Given the description of an element on the screen output the (x, y) to click on. 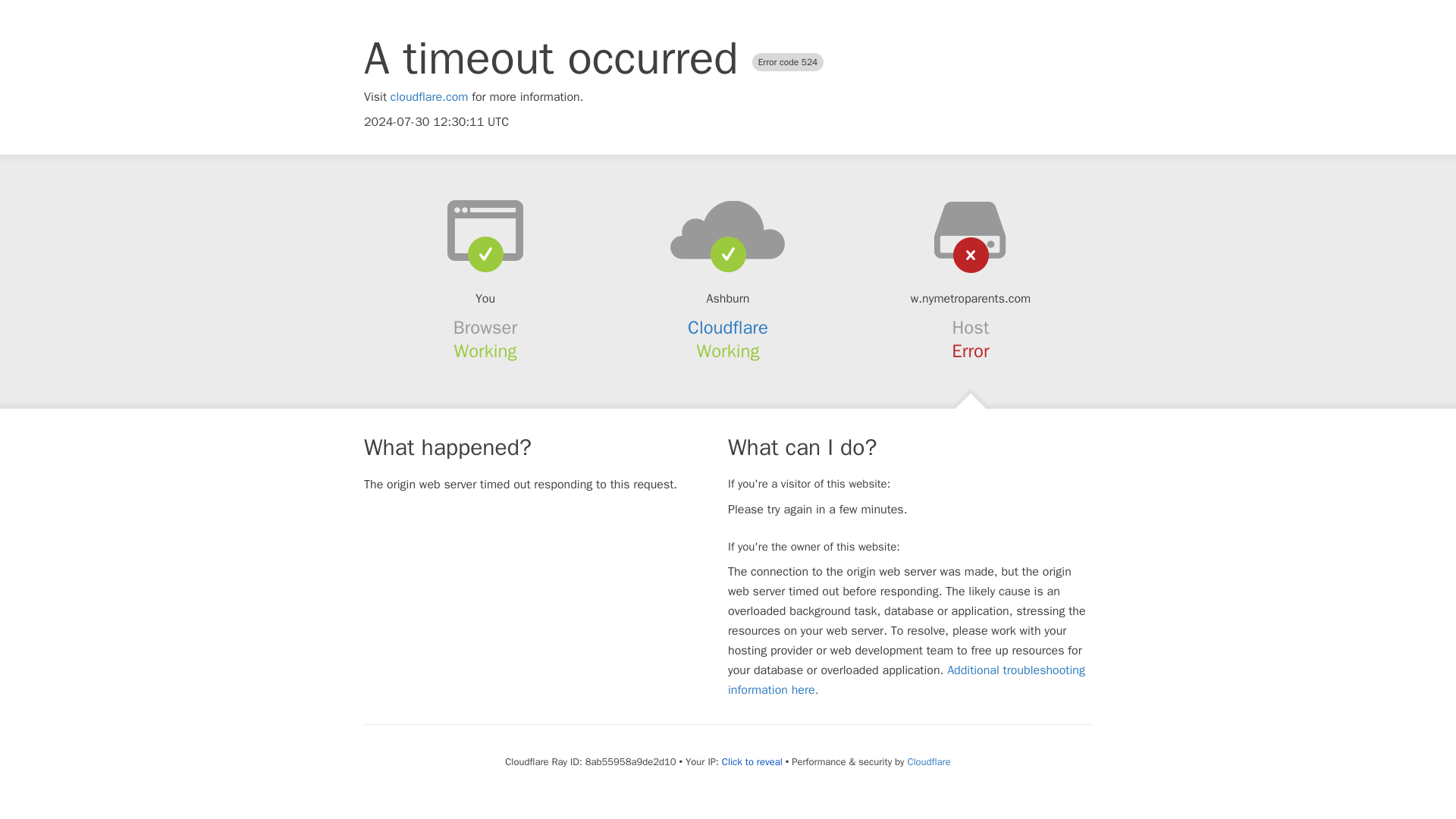
Additional troubleshooting information here. (906, 679)
Click to reveal (752, 762)
Cloudflare (928, 761)
cloudflare.com (429, 96)
Cloudflare (727, 327)
